Given the description of an element on the screen output the (x, y) to click on. 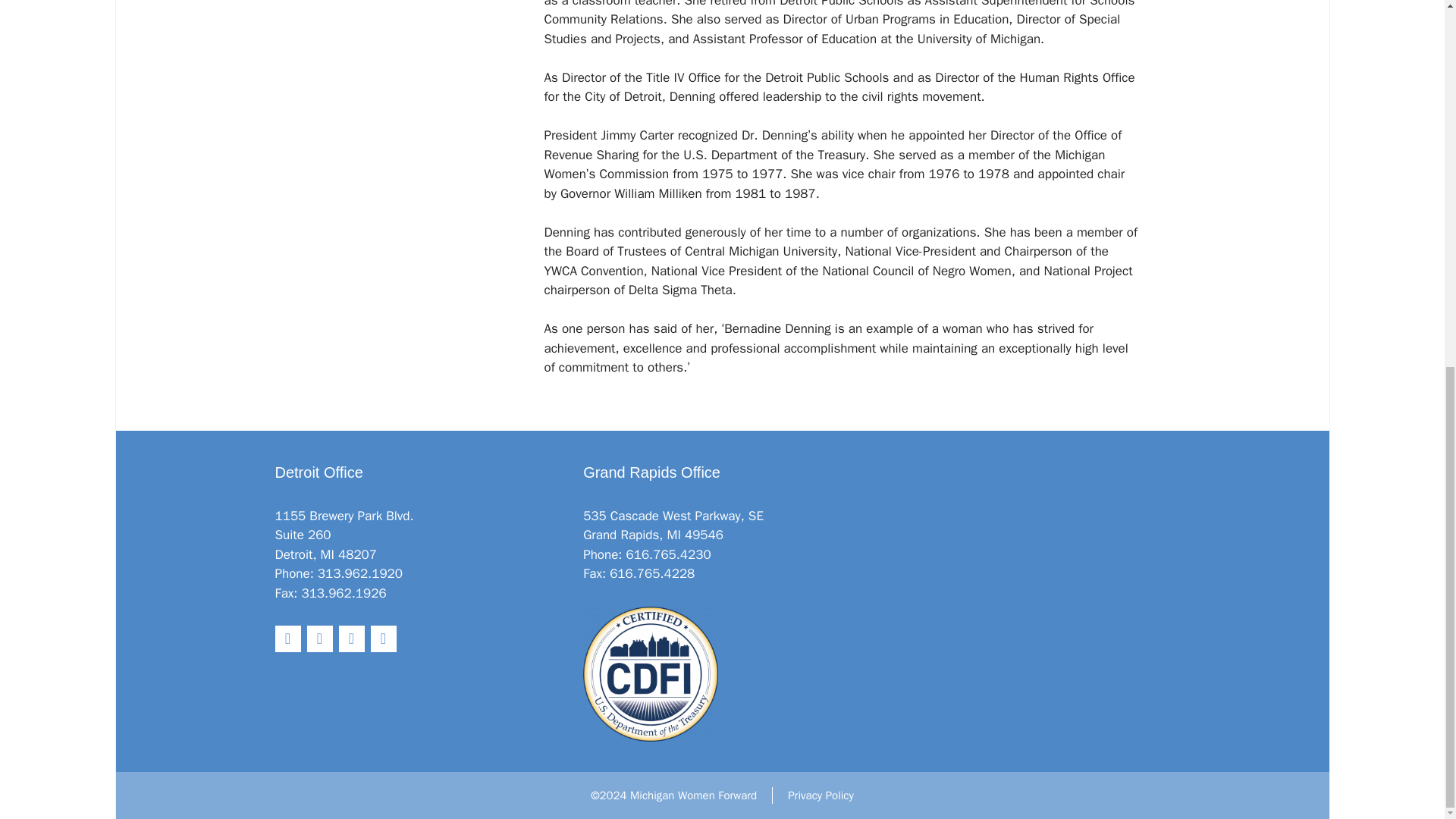
Facebook (318, 638)
Instagram (382, 638)
Privacy Policy (820, 795)
LinkedIn (350, 638)
Twitter (287, 638)
